Given the description of an element on the screen output the (x, y) to click on. 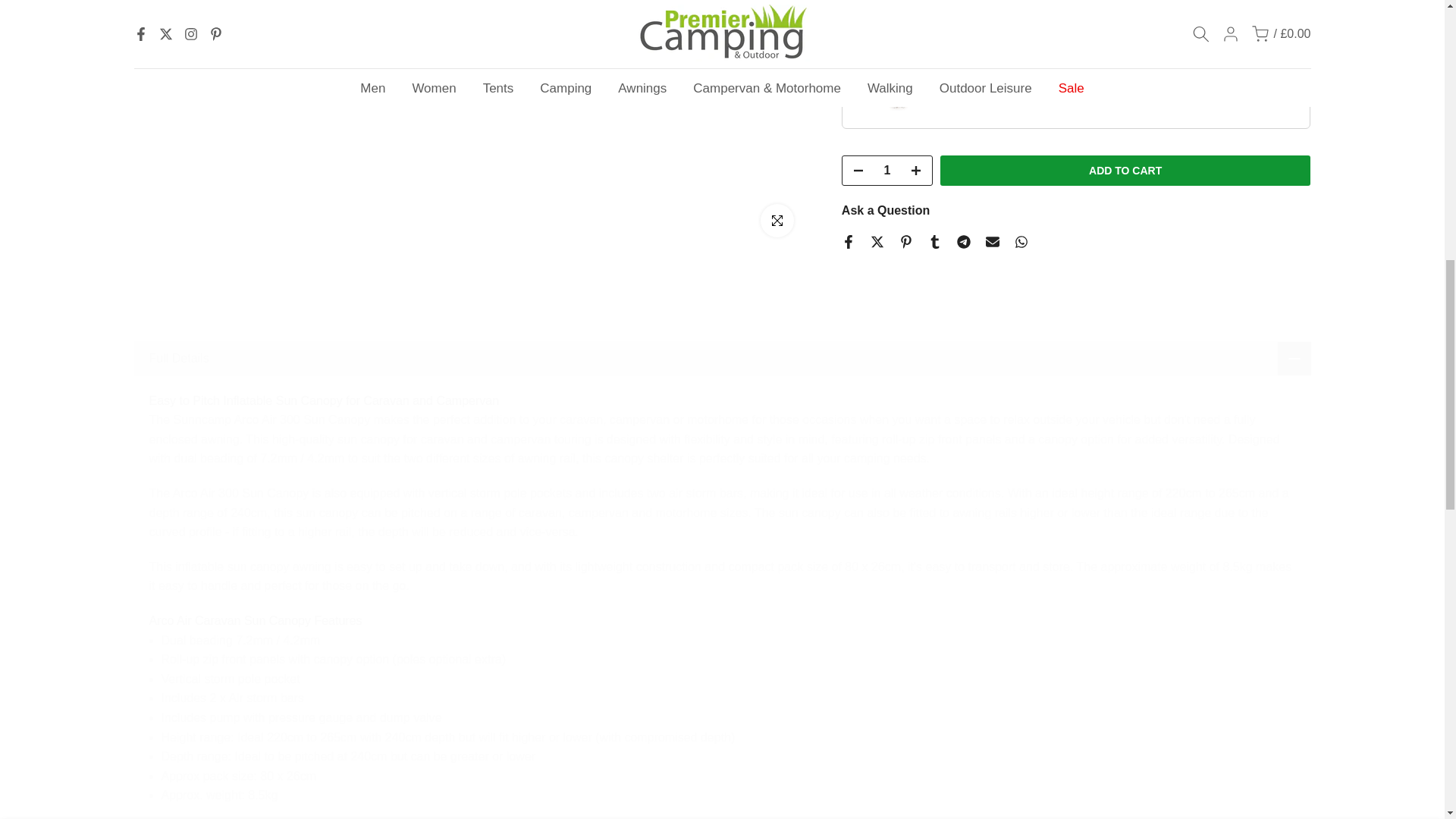
Share on WhatsApp (1020, 241)
1 (901, 35)
on (854, 91)
Share on Twitter (876, 241)
1 (886, 170)
Share on Email (991, 241)
Share on Pinterest (905, 241)
Share on Tumblr (935, 241)
Share on Facebook (848, 241)
Share on Telegram (963, 241)
on (854, 14)
